Given the description of an element on the screen output the (x, y) to click on. 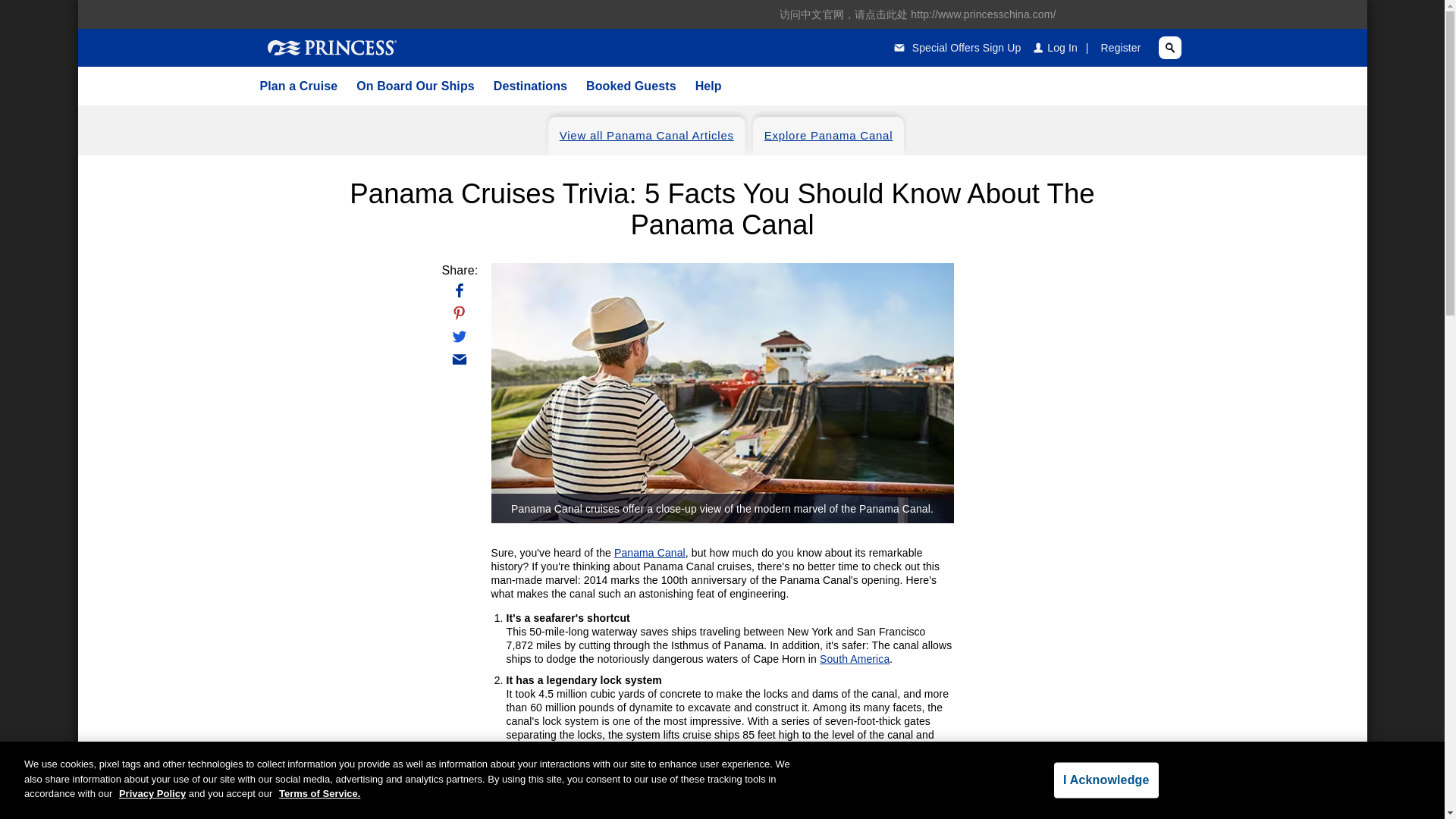
Explore Panama Canal (828, 136)
Panama Canal (649, 552)
View all Panama Canal Articles (646, 136)
View all Panama Canal Articles (646, 136)
I Acknowledge (1106, 780)
Terms of Service. (319, 793)
South America (854, 658)
Privacy Policy (152, 793)
Explore Panama Canal (828, 136)
